Given the description of an element on the screen output the (x, y) to click on. 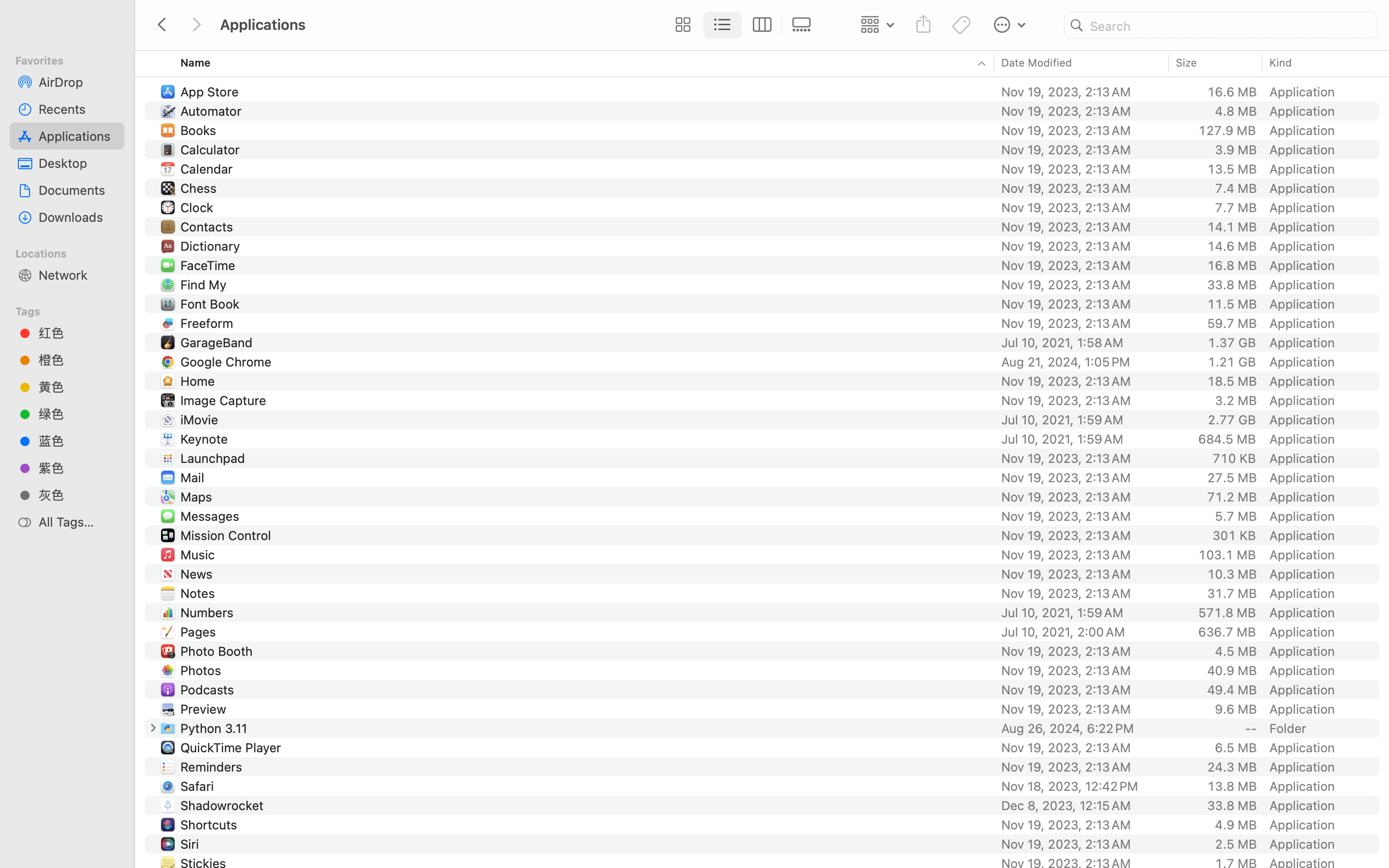
11.5 MB Element type: AXStaticText (1231, 303)
<AXUIElement 0x126c26770> {pid=510} Element type: AXRadioGroup (741, 24)
FaceTime Element type: AXTextField (210, 264)
Recents Element type: AXStaticText (77, 108)
Contacts Element type: AXTextField (208, 226)
